Given the description of an element on the screen output the (x, y) to click on. 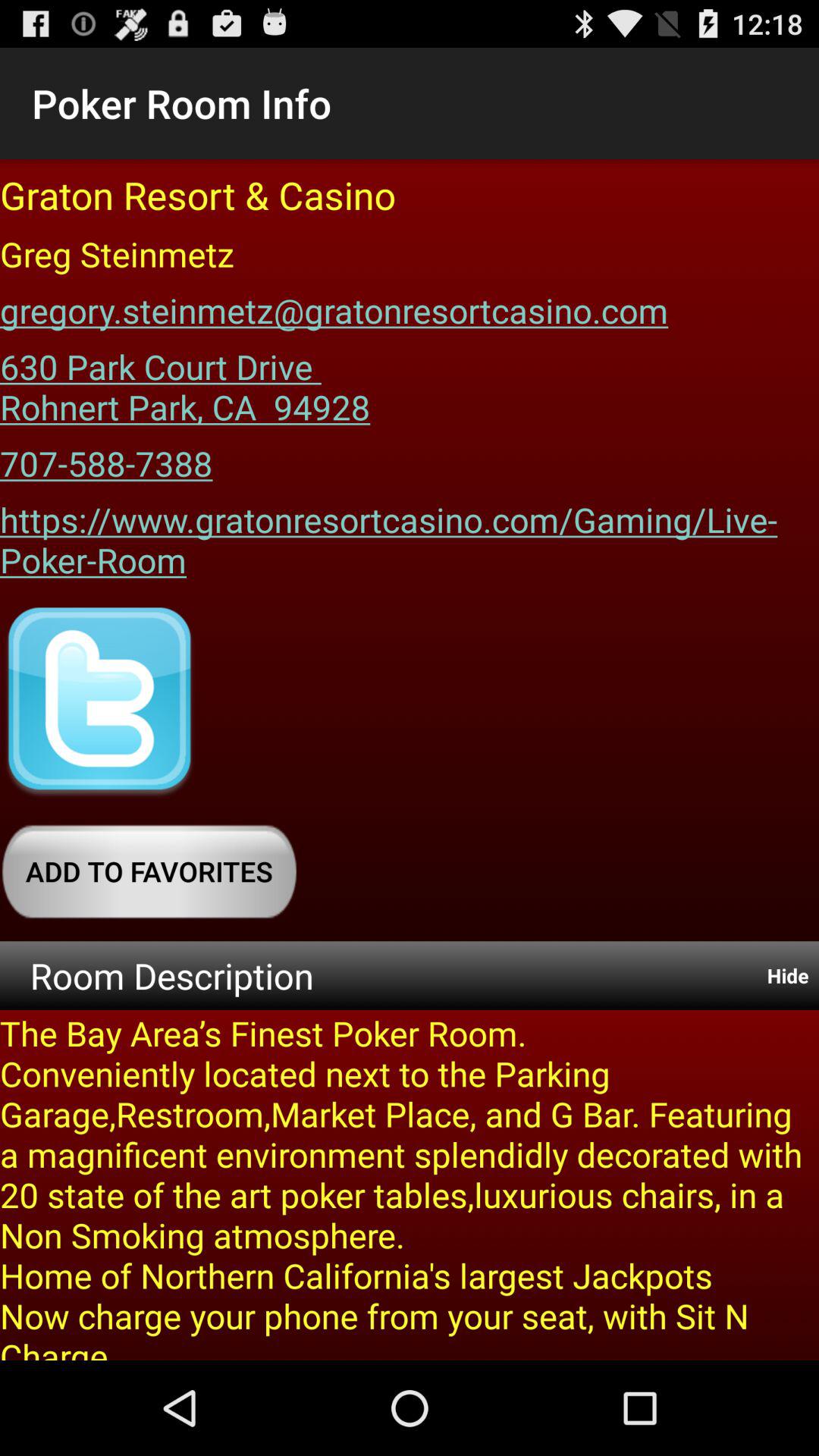
click app at the center (409, 534)
